Given the description of an element on the screen output the (x, y) to click on. 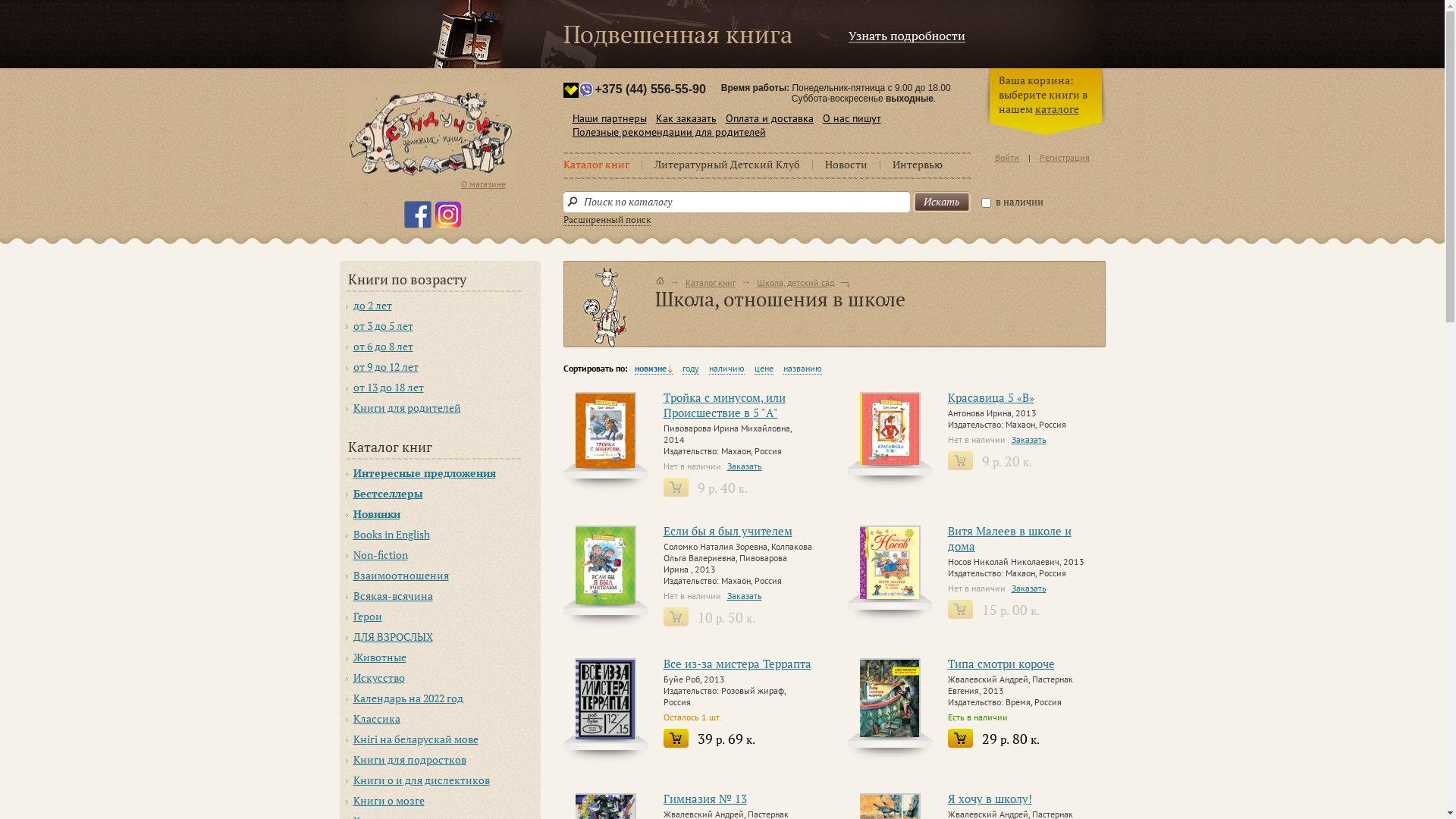
Books in English Element type: text (438, 534)
Non-fiction Element type: text (438, 555)
  Element type: text (659, 279)
